Given the description of an element on the screen output the (x, y) to click on. 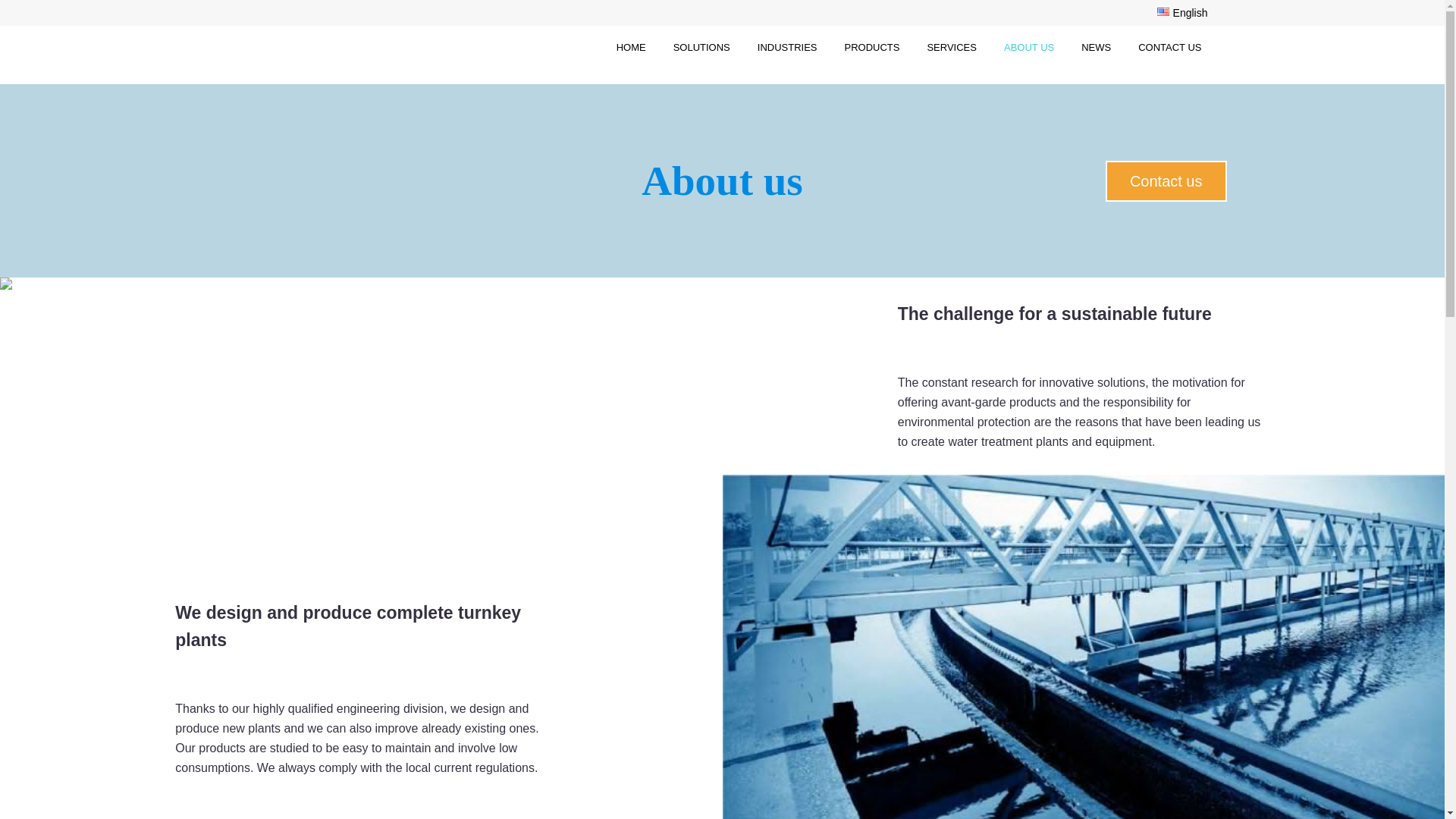
English (1163, 11)
NEWS (1095, 47)
SERVICES (951, 47)
SOLUTIONS (701, 47)
HOME (630, 47)
ABOUT US (1029, 47)
English (721, 12)
INDUSTRIES (786, 47)
CONTACT US (1169, 47)
PRODUCTS (871, 47)
